Given the description of an element on the screen output the (x, y) to click on. 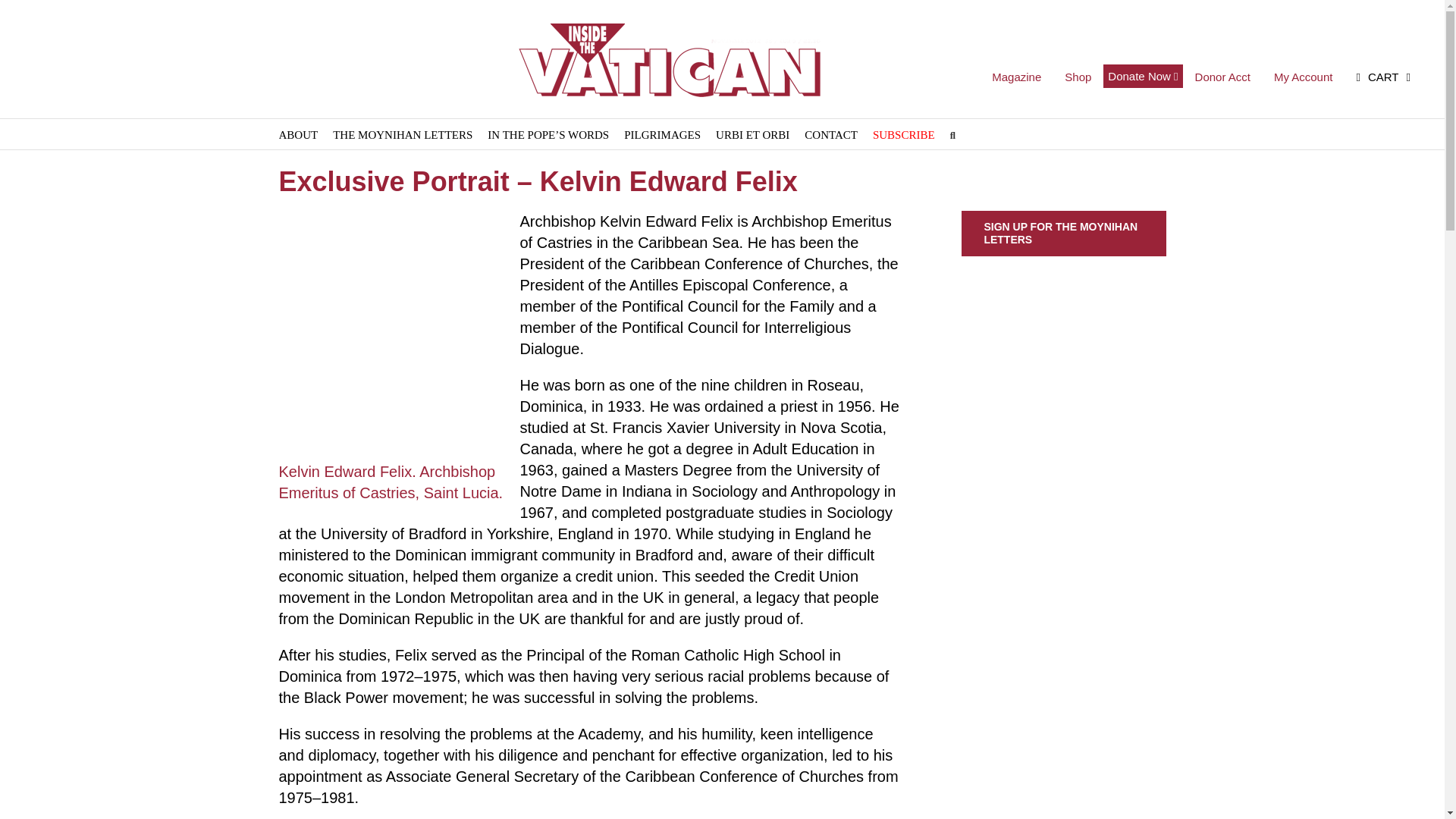
Shop (1077, 78)
My Account (1302, 78)
Magazine (1015, 78)
Donate Now (1142, 75)
Log In (1352, 219)
Donor Acct (1222, 78)
